Given the description of an element on the screen output the (x, y) to click on. 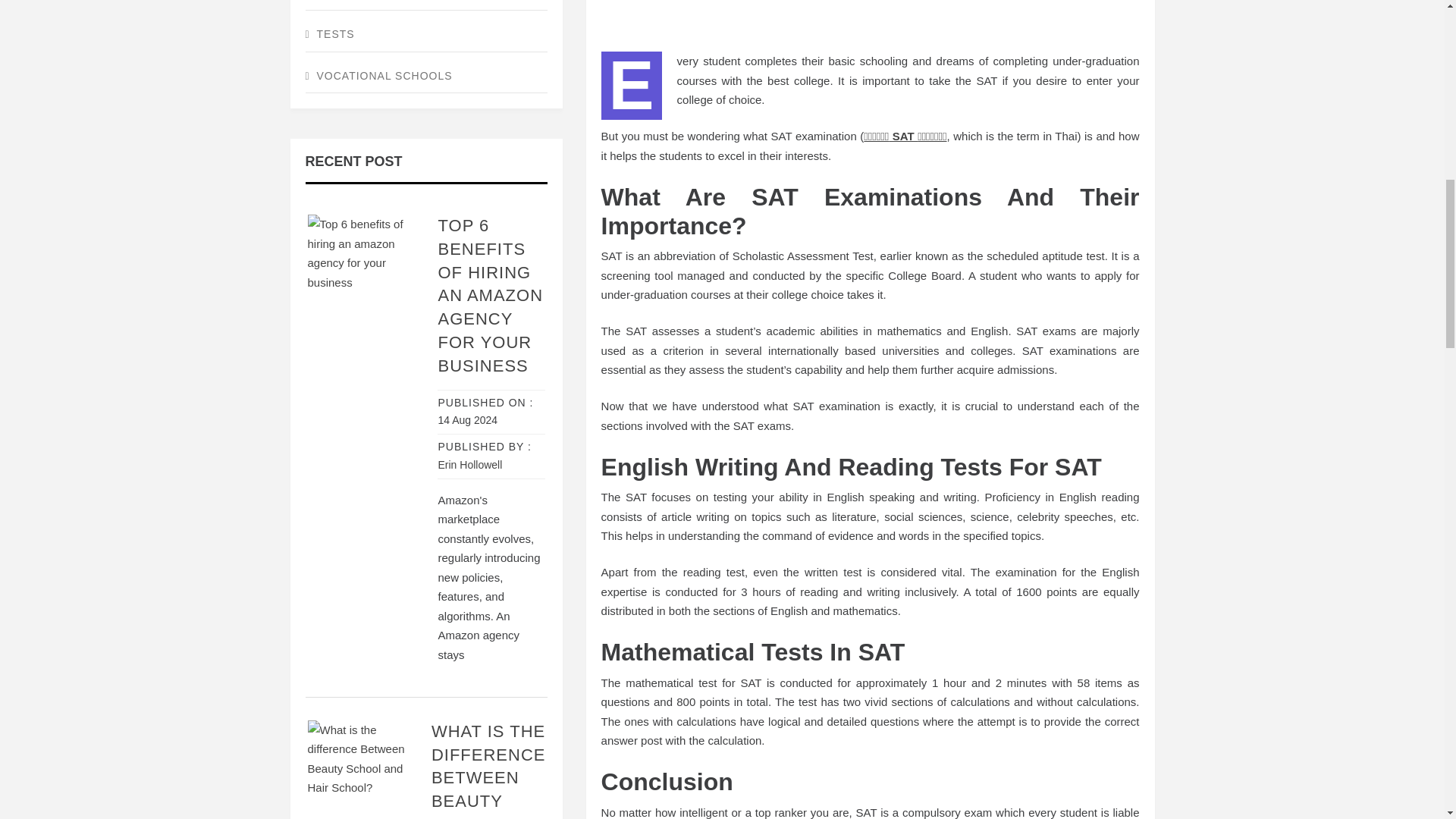
VOCATIONAL SCHOOLS (425, 76)
TESTS (425, 35)
Erin Hollowell (470, 464)
TEACHING (425, 5)
